Given the description of an element on the screen output the (x, y) to click on. 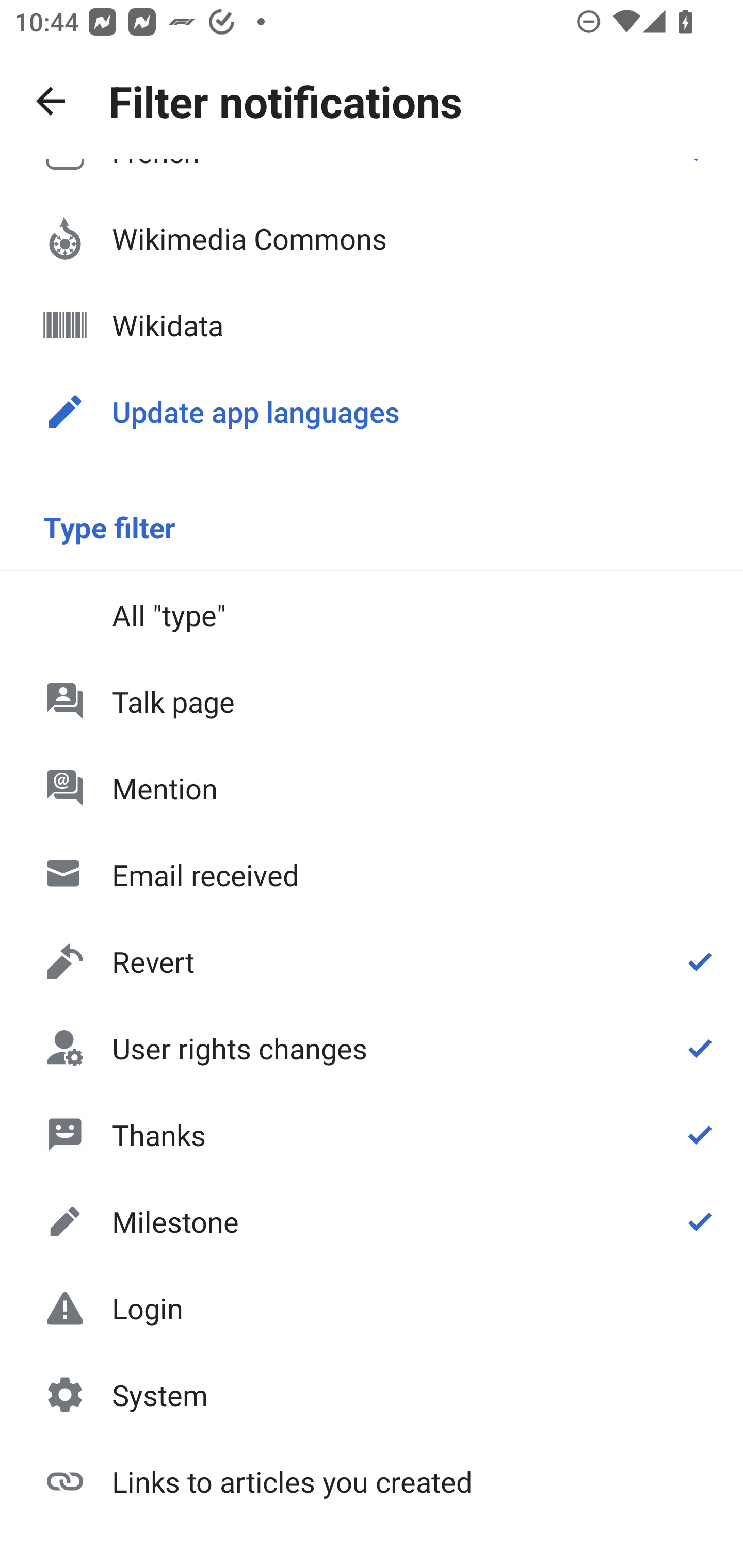
Navigate up (50, 101)
Wikimedia Commons (371, 238)
Wikidata (371, 325)
Update app languages (371, 411)
All "type" (371, 614)
Talk page (371, 701)
Mention (371, 787)
Email received (371, 874)
Revert (371, 961)
User rights changes (371, 1048)
Thanks (371, 1134)
Milestone (371, 1221)
Login (371, 1308)
System (371, 1394)
Links to articles you created (371, 1480)
